Given the description of an element on the screen output the (x, y) to click on. 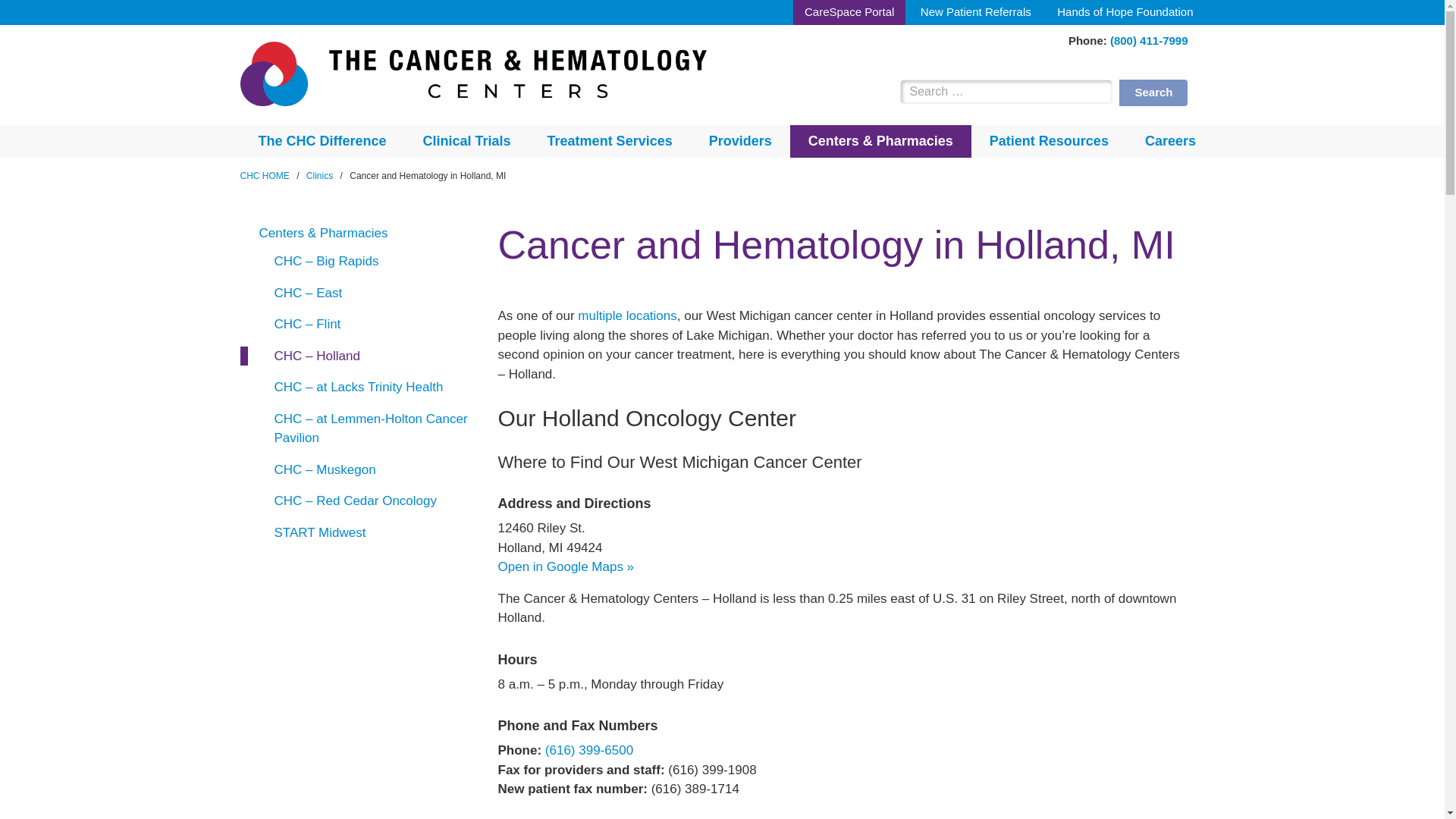
Treatment Services (609, 141)
Clinical Trials (466, 141)
Providers (740, 141)
New Patient Referrals (975, 12)
Search (1153, 92)
The CHC Difference (322, 141)
Hands of Hope Foundation (1124, 12)
Search (1153, 92)
Treatment Services (609, 141)
Clinical Trials (466, 141)
The CHC Difference (322, 141)
CareSpace Portal (849, 12)
Search (1153, 92)
